Given the description of an element on the screen output the (x, y) to click on. 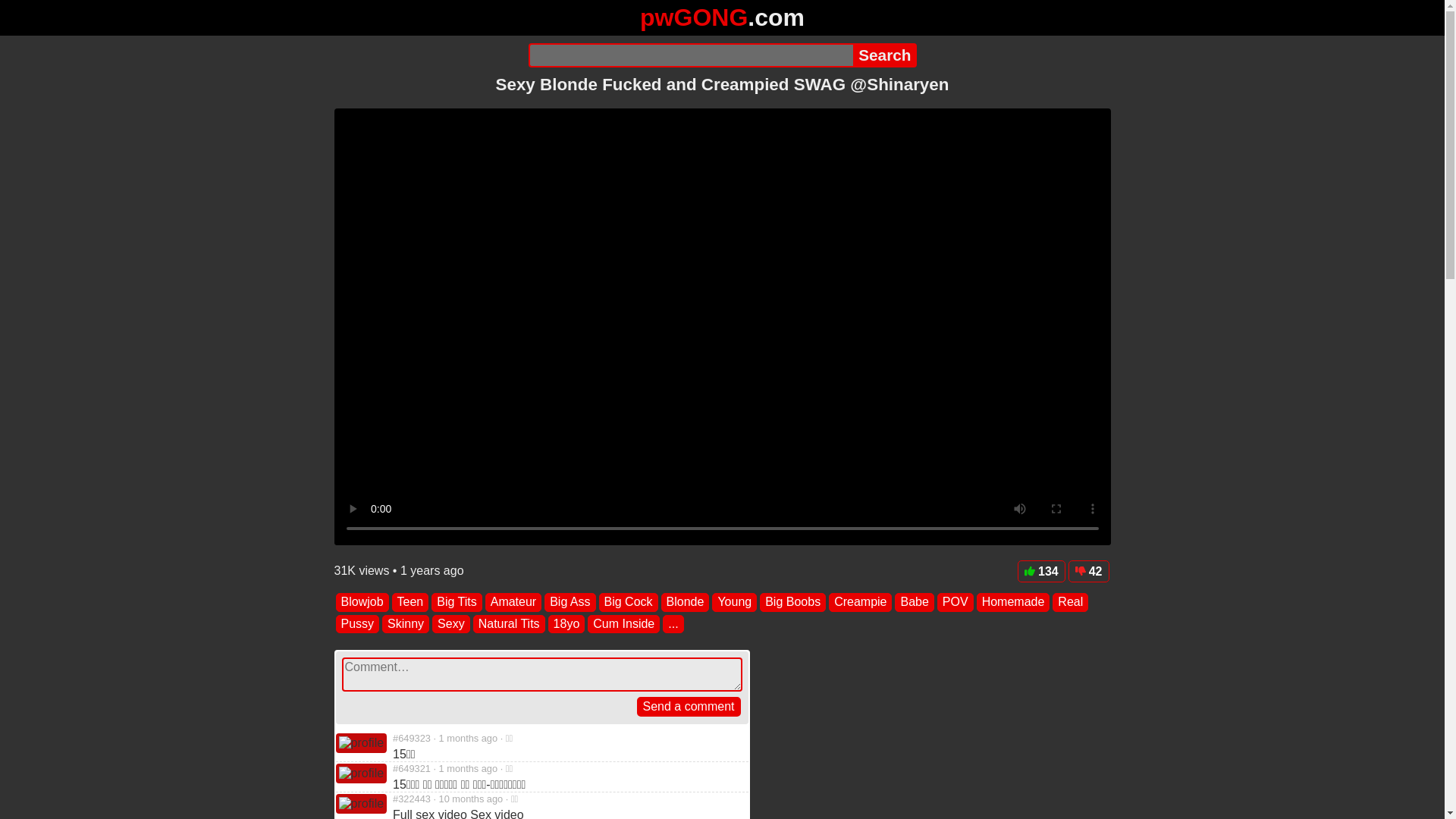
Blonde (685, 601)
Real (1069, 601)
Homemade (1012, 601)
pwGONG.com (722, 17)
Blowjob (361, 601)
Big Tits (455, 601)
Teen (410, 601)
Amateur (512, 601)
Natural Tits (508, 624)
Young (734, 601)
Sexy (451, 624)
... (672, 624)
Big Boobs (792, 601)
Skinny (405, 624)
Babe (914, 601)
